Given the description of an element on the screen output the (x, y) to click on. 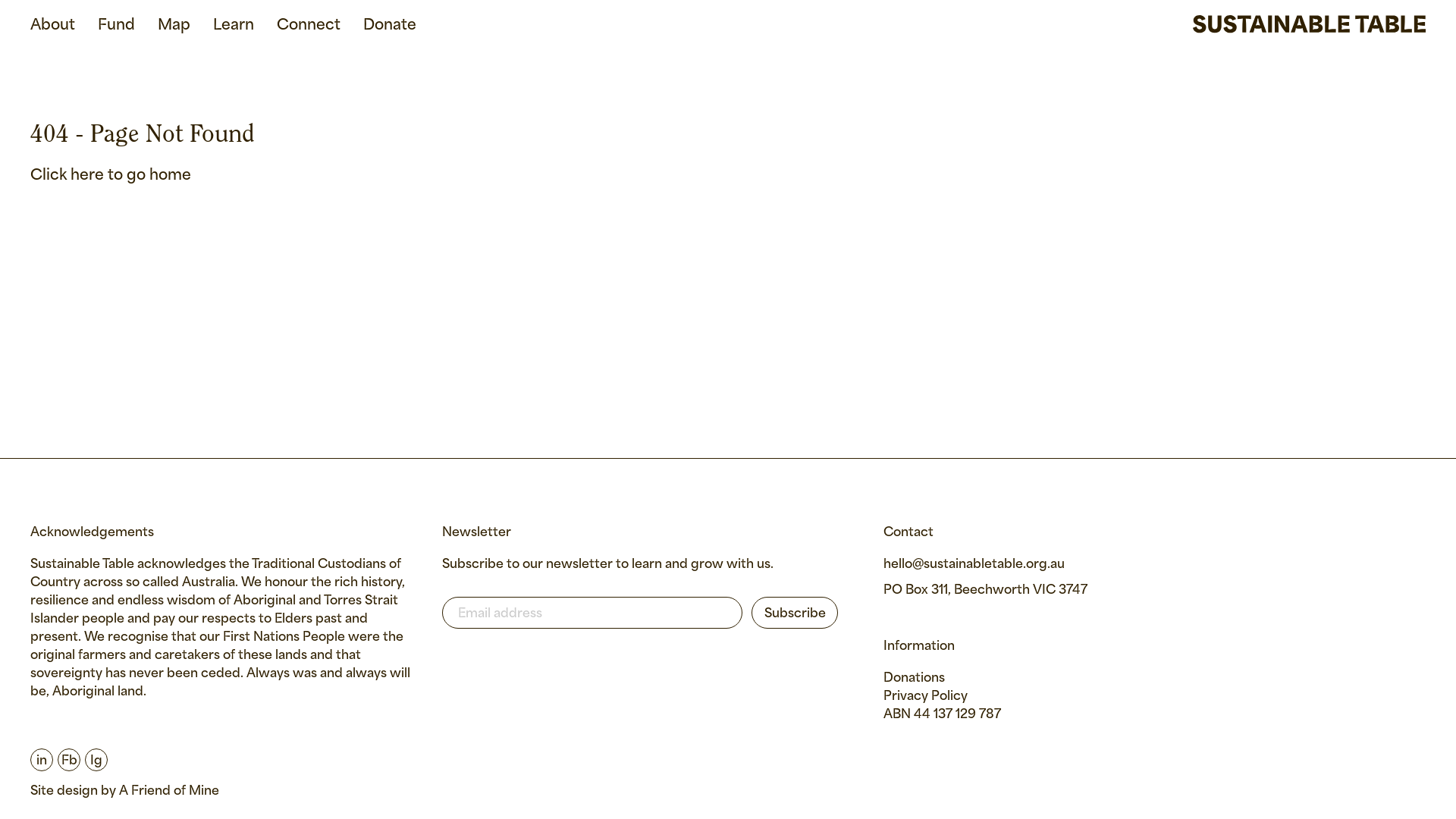
Map Element type: text (173, 25)
About Element type: text (52, 25)
A Friend of Mine Element type: text (169, 790)
Subscribe Element type: text (794, 612)
Donations Element type: text (913, 677)
Fund Element type: text (115, 25)
Click here to go home Element type: text (110, 175)
Connect Element type: text (308, 25)
Donate Element type: text (389, 25)
Learn Element type: text (233, 25)
Ig Element type: text (93, 759)
Fb Element type: text (66, 759)
hello@sustainabletable.org.au Element type: text (973, 564)
Privacy Policy Element type: text (925, 696)
in Element type: text (41, 759)
